Given the description of an element on the screen output the (x, y) to click on. 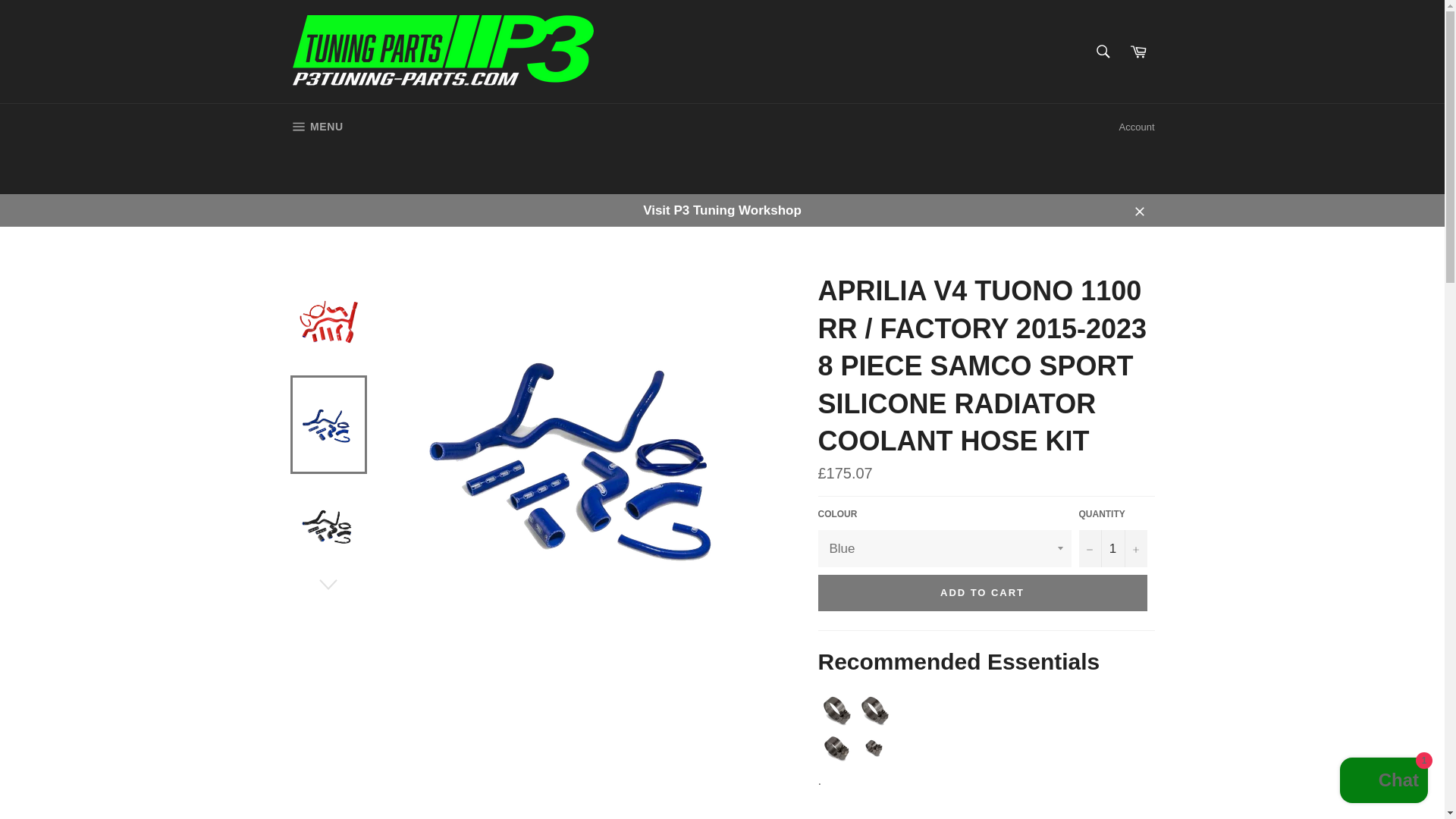
1 (1112, 548)
